Given the description of an element on the screen output the (x, y) to click on. 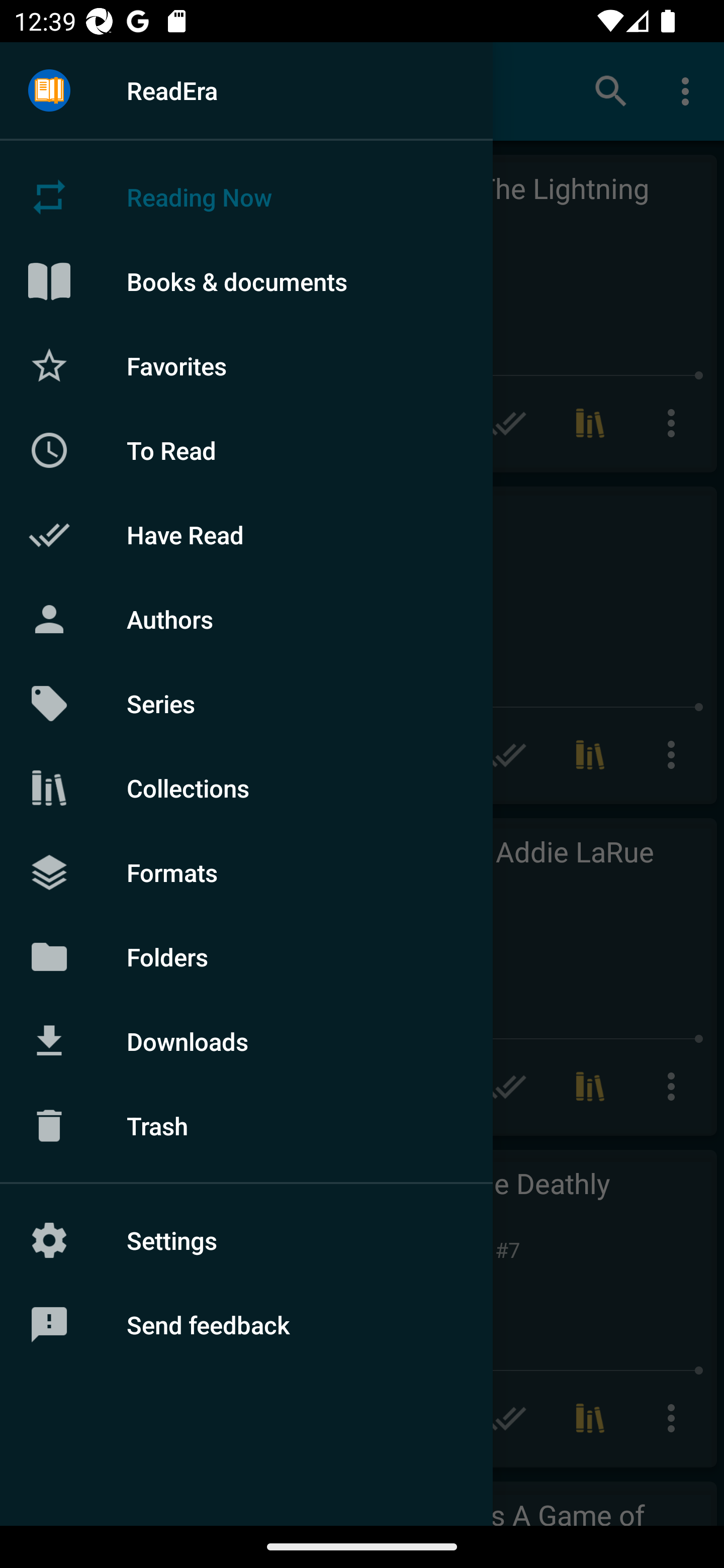
Menu (49, 91)
ReadEra (246, 89)
Search books & documents (611, 90)
More options (688, 90)
Reading Now (246, 197)
Books & documents (246, 281)
Favorites (246, 365)
To Read (246, 449)
Have Read (246, 534)
Authors (246, 619)
Series (246, 703)
Collections (246, 787)
Formats (246, 871)
Folders (246, 956)
Downloads (246, 1040)
Trash (246, 1125)
Settings (246, 1239)
Send feedback (246, 1324)
